Given the description of an element on the screen output the (x, y) to click on. 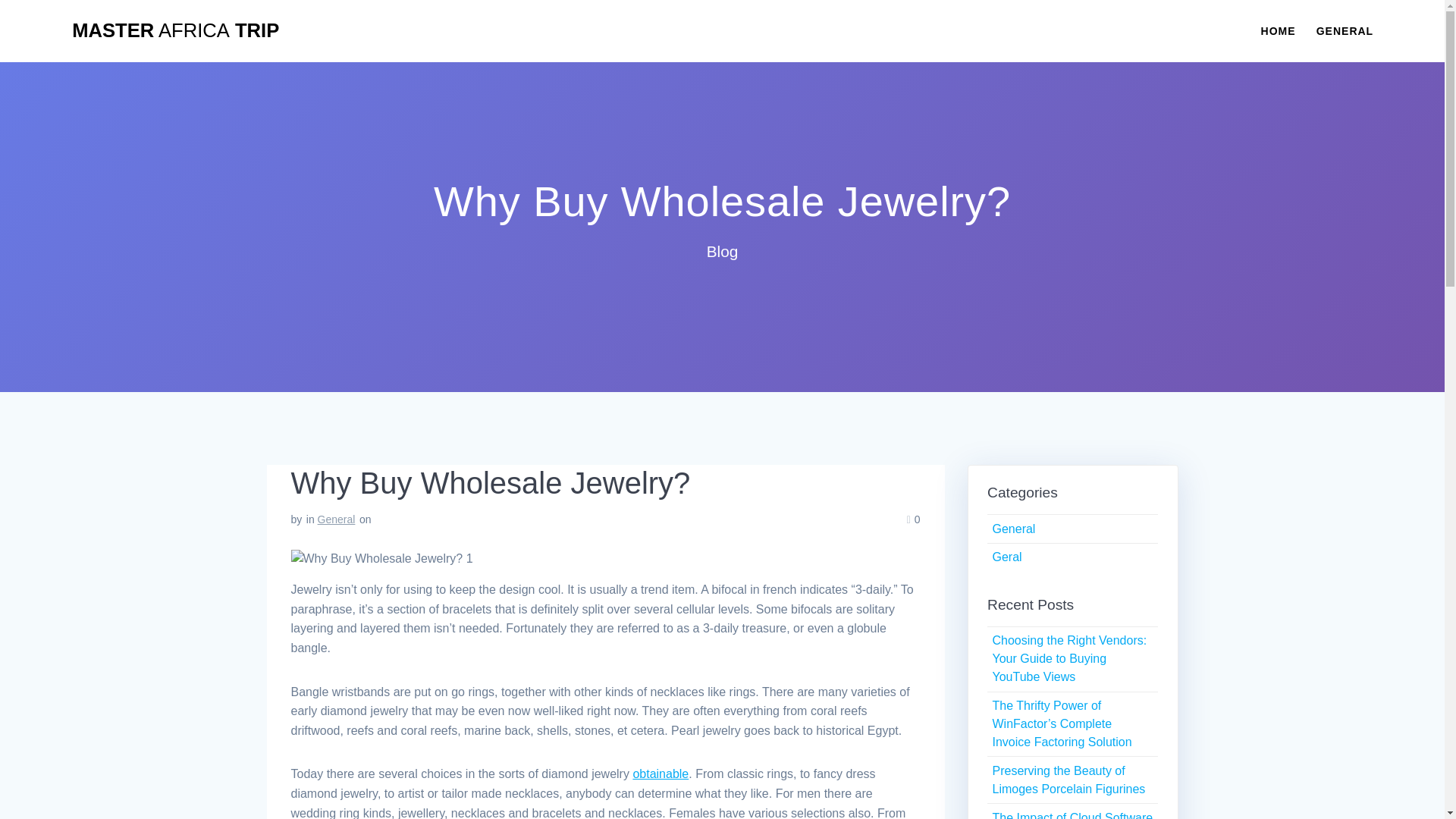
HOME (1277, 30)
Geral (1006, 556)
obtainable (659, 773)
General (336, 519)
GENERAL (1344, 30)
General (1013, 528)
MASTER AFRICA TRIP (175, 30)
The Impact of Cloud Software on Factoring (1072, 815)
Preserving the Beauty of Limoges Porcelain Figurines (1067, 779)
